Given the description of an element on the screen output the (x, y) to click on. 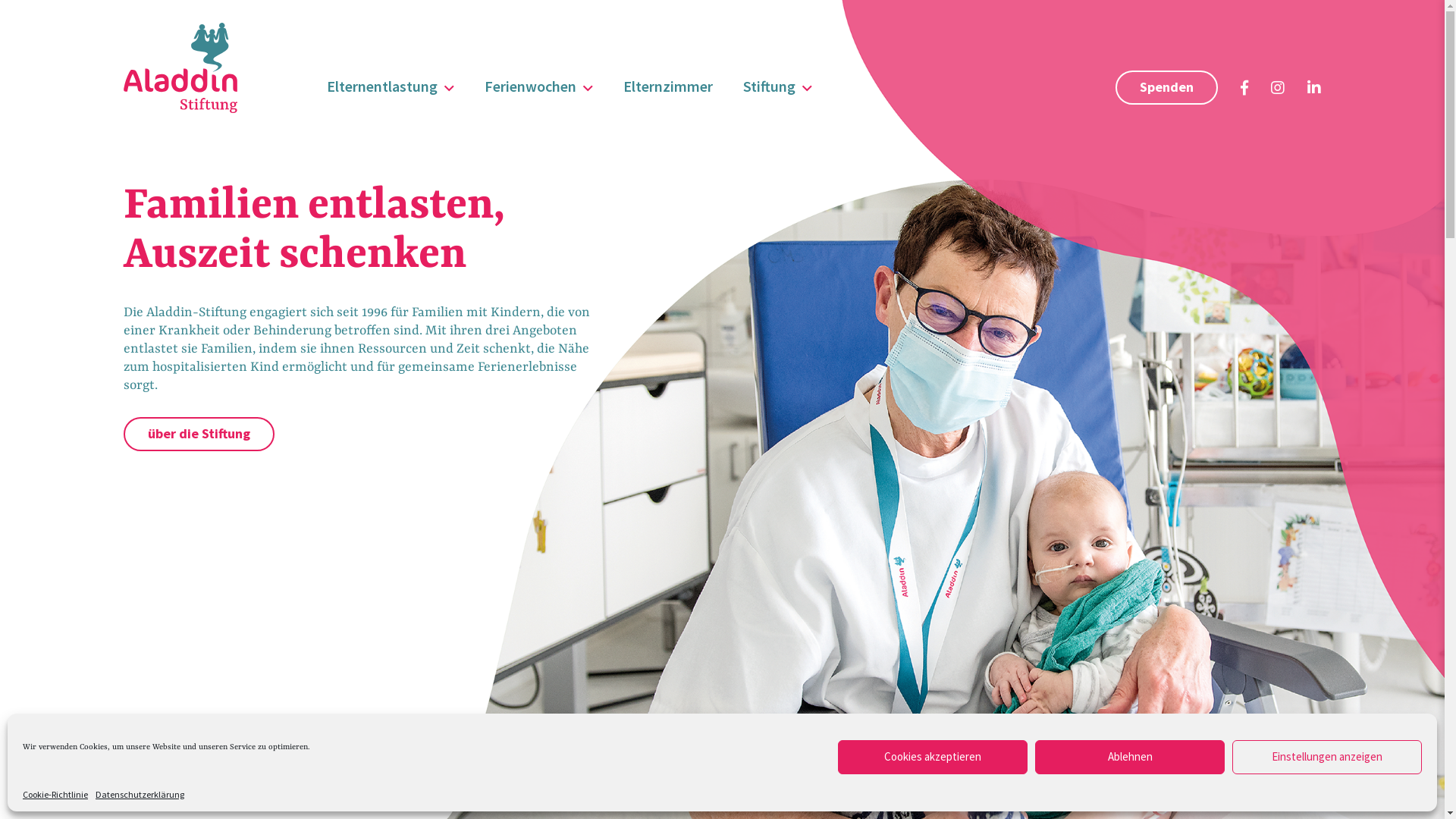
Spenden Element type: text (1166, 87)
Stiftung Element type: text (777, 86)
Einstellungen anzeigen Element type: text (1326, 757)
Cookie-Richtlinie Element type: text (54, 794)
Elternentlastung Element type: text (390, 86)
Cookies akzeptieren Element type: text (932, 757)
Ferienwochen Element type: text (538, 86)
Elternzimmer Element type: text (667, 86)
Ablehnen Element type: text (1129, 757)
